Given the description of an element on the screen output the (x, y) to click on. 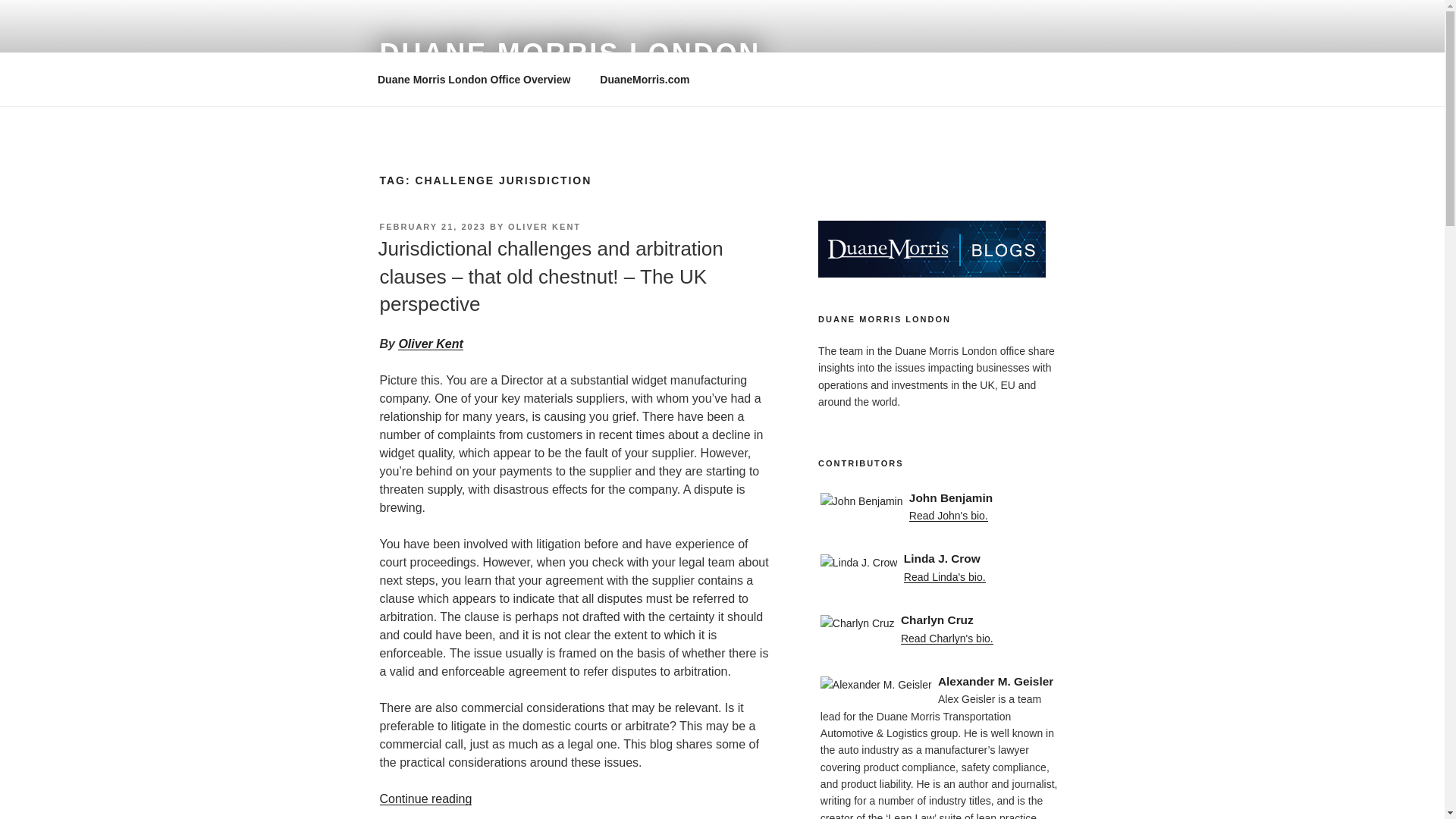
Read John's bio. (948, 515)
Read Charlyn's bio. (946, 638)
OLIVER KENT (544, 225)
DuaneMorris.com (644, 78)
Read Linda's bio. (944, 576)
John Benjamin (941, 497)
Linda J. Crow (941, 558)
John Benjamin (941, 497)
Alexander M. Geisler (941, 681)
Charlyn Cruz (941, 619)
Alexander M. Geisler (941, 681)
Duane Morris LLP firm website (644, 78)
DUANE MORRIS LONDON (569, 52)
FEBRUARY 21, 2023 (431, 225)
Charlyn Cruz (941, 619)
